Given the description of an element on the screen output the (x, y) to click on. 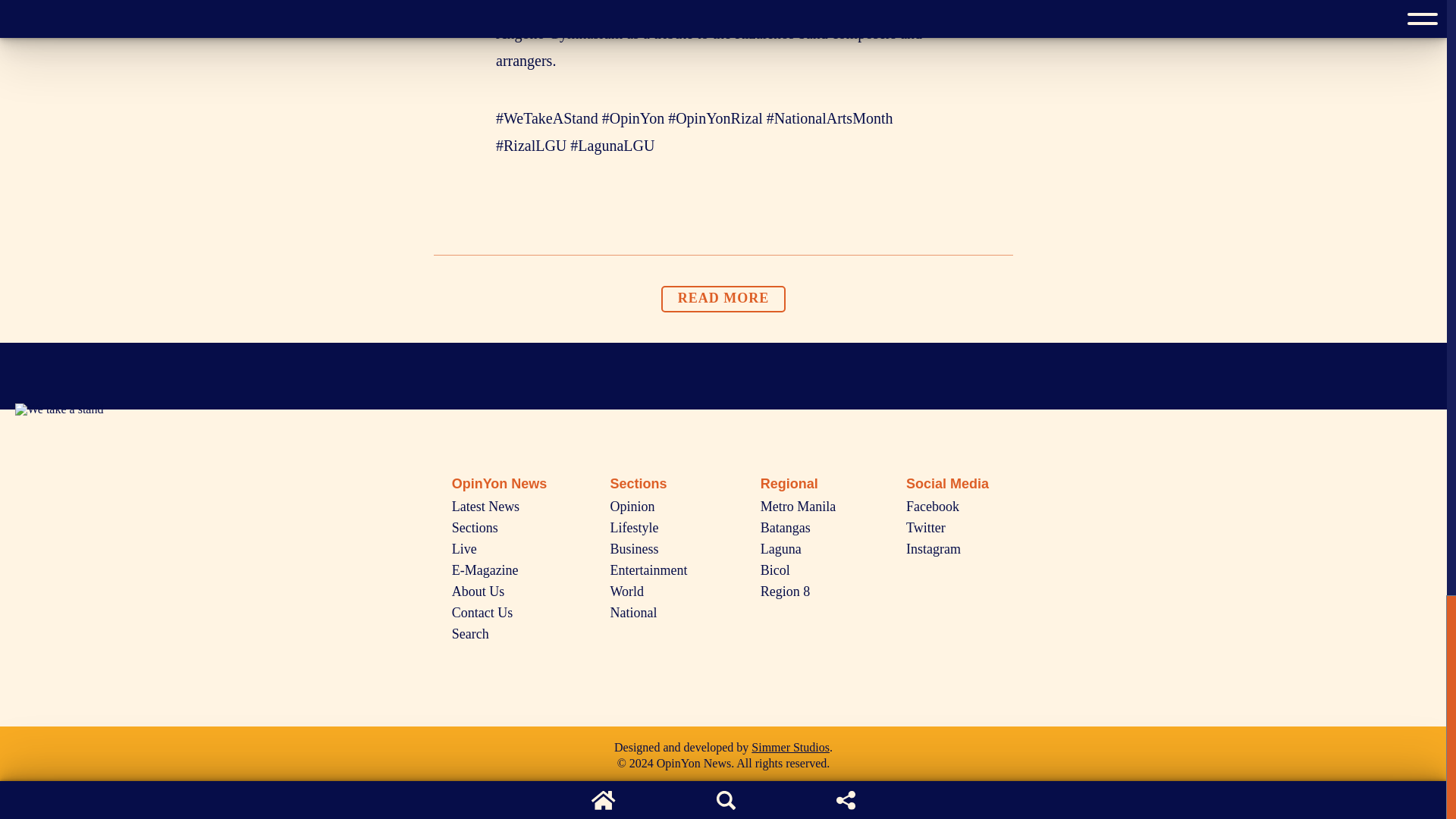
Batangas (785, 527)
Simmer Studios (790, 747)
Instagram (932, 548)
Region 8 (785, 590)
Metro Manila (797, 506)
Live (464, 548)
About Us (478, 590)
World (627, 590)
Lifestyle (634, 527)
Latest News (485, 506)
E-Magazine (484, 570)
Business (634, 548)
Entertainment (648, 570)
Laguna (781, 548)
Sections (474, 527)
